Given the description of an element on the screen output the (x, y) to click on. 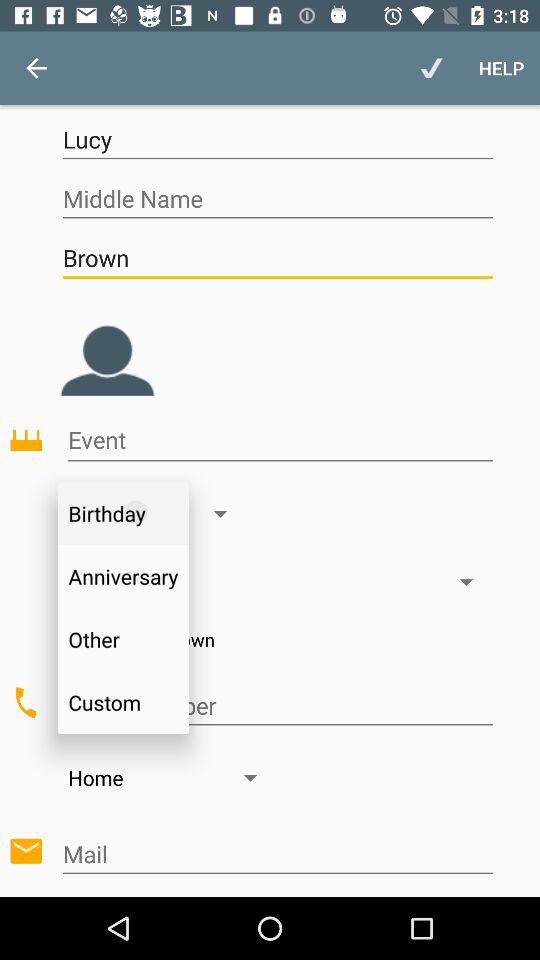
turn on icon above lucy icon (501, 67)
